Given the description of an element on the screen output the (x, y) to click on. 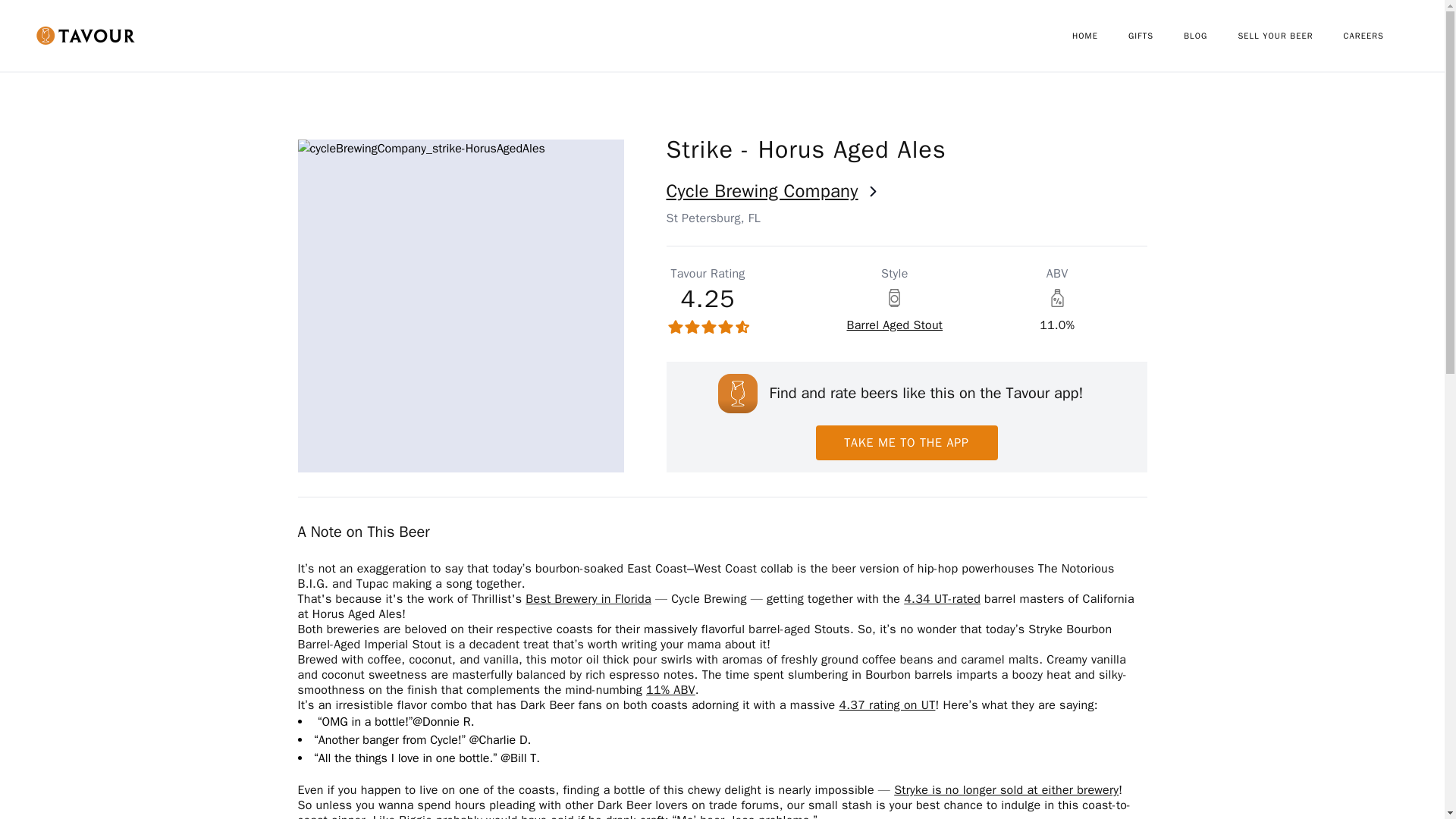
GIFTS (1155, 35)
TAKE ME TO THE APP (906, 442)
BLOG (1210, 35)
careers (1378, 35)
SELL YOUR BEER (1289, 35)
gifts (1155, 35)
Barrel Aged Stout (893, 325)
home (1099, 35)
blog (1210, 35)
HOME (1099, 35)
